Given the description of an element on the screen output the (x, y) to click on. 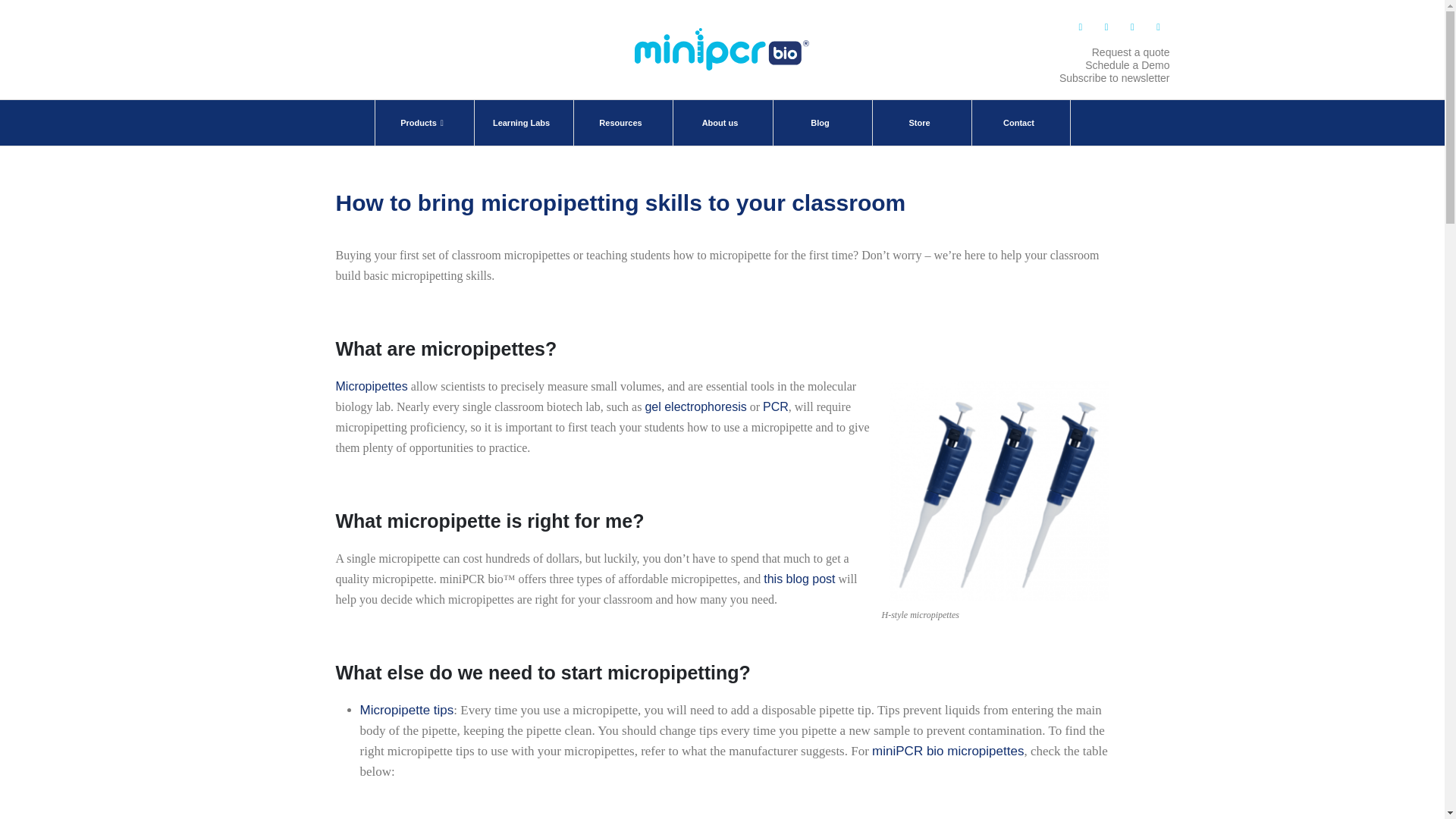
Twitter (1106, 26)
Request a quote (1131, 51)
Subscribe to newsletter (1114, 78)
Blog (820, 122)
Store (921, 122)
Facebook (1080, 26)
Learning Labs (522, 122)
About us (720, 122)
miniPCR bio - Biotech tools for your lab or classroom (721, 48)
Contact (1019, 122)
Products (423, 122)
Youtube (1131, 26)
Schedule a Demo (1126, 64)
Instagram (1158, 26)
Resources (622, 122)
